Given the description of an element on the screen output the (x, y) to click on. 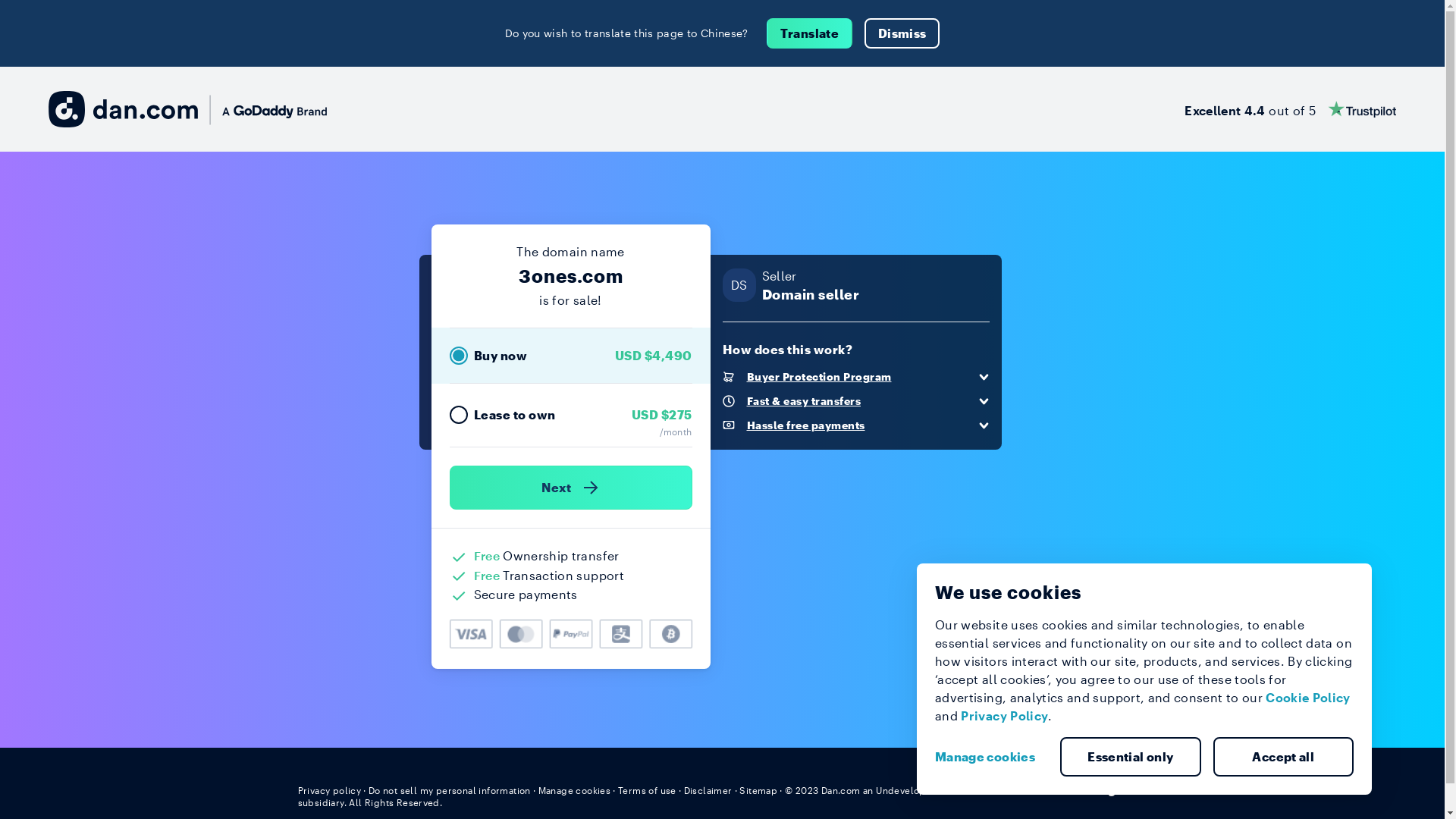
Sitemap Element type: text (758, 789)
Terms of use Element type: text (647, 789)
Translate Element type: text (809, 33)
Privacy policy Element type: text (328, 789)
Cookie Policy Element type: text (1307, 697)
Essential only Element type: text (1130, 756)
Manage cookies Element type: text (991, 756)
Dismiss Element type: text (901, 33)
Do not sell my personal information Element type: text (449, 789)
English Element type: text (1119, 789)
Accept all Element type: text (1283, 756)
Disclaimer Element type: text (708, 789)
Next
) Element type: text (569, 487)
Excellent 4.4 out of 5 Element type: text (1290, 109)
Privacy Policy Element type: text (1004, 715)
Manage cookies Element type: text (574, 790)
